Given the description of an element on the screen output the (x, y) to click on. 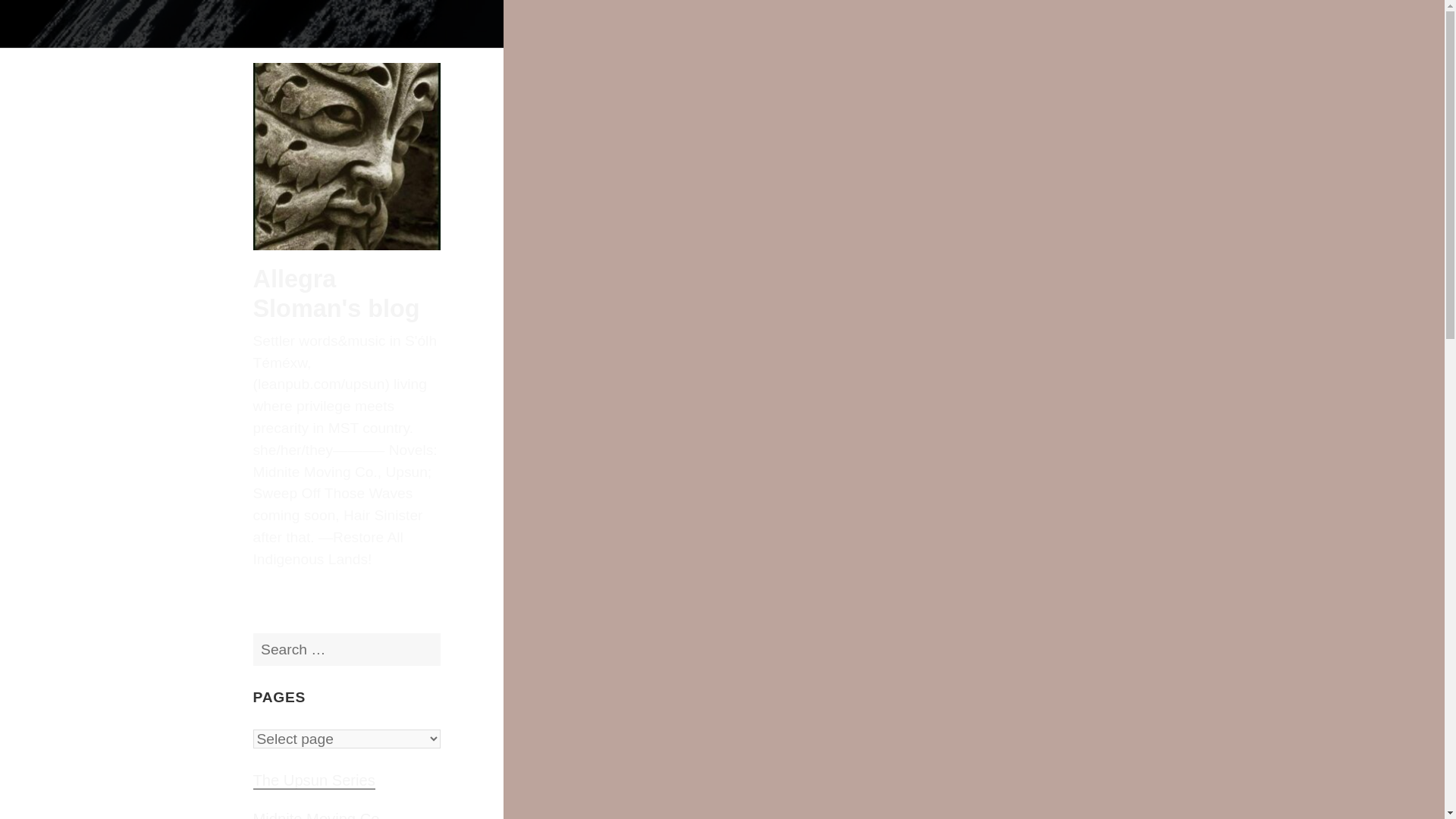
Allegra Sloman's blog (336, 293)
The Upsun Series (314, 781)
Midnite Moving Co (316, 815)
